Given the description of an element on the screen output the (x, y) to click on. 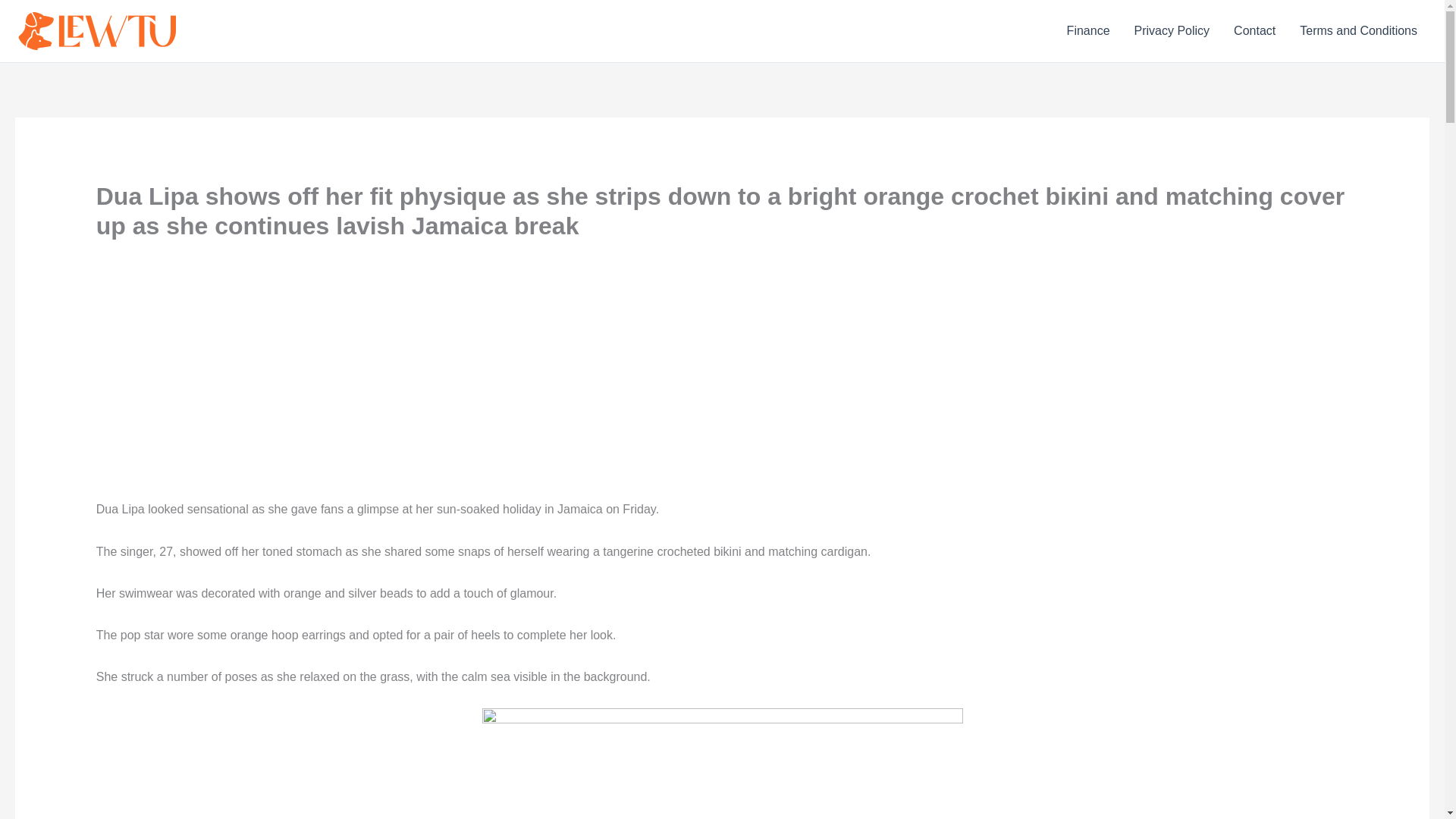
Contact (1254, 30)
Finance (1088, 30)
Privacy Policy (1172, 30)
Terms and Conditions (1358, 30)
